Given the description of an element on the screen output the (x, y) to click on. 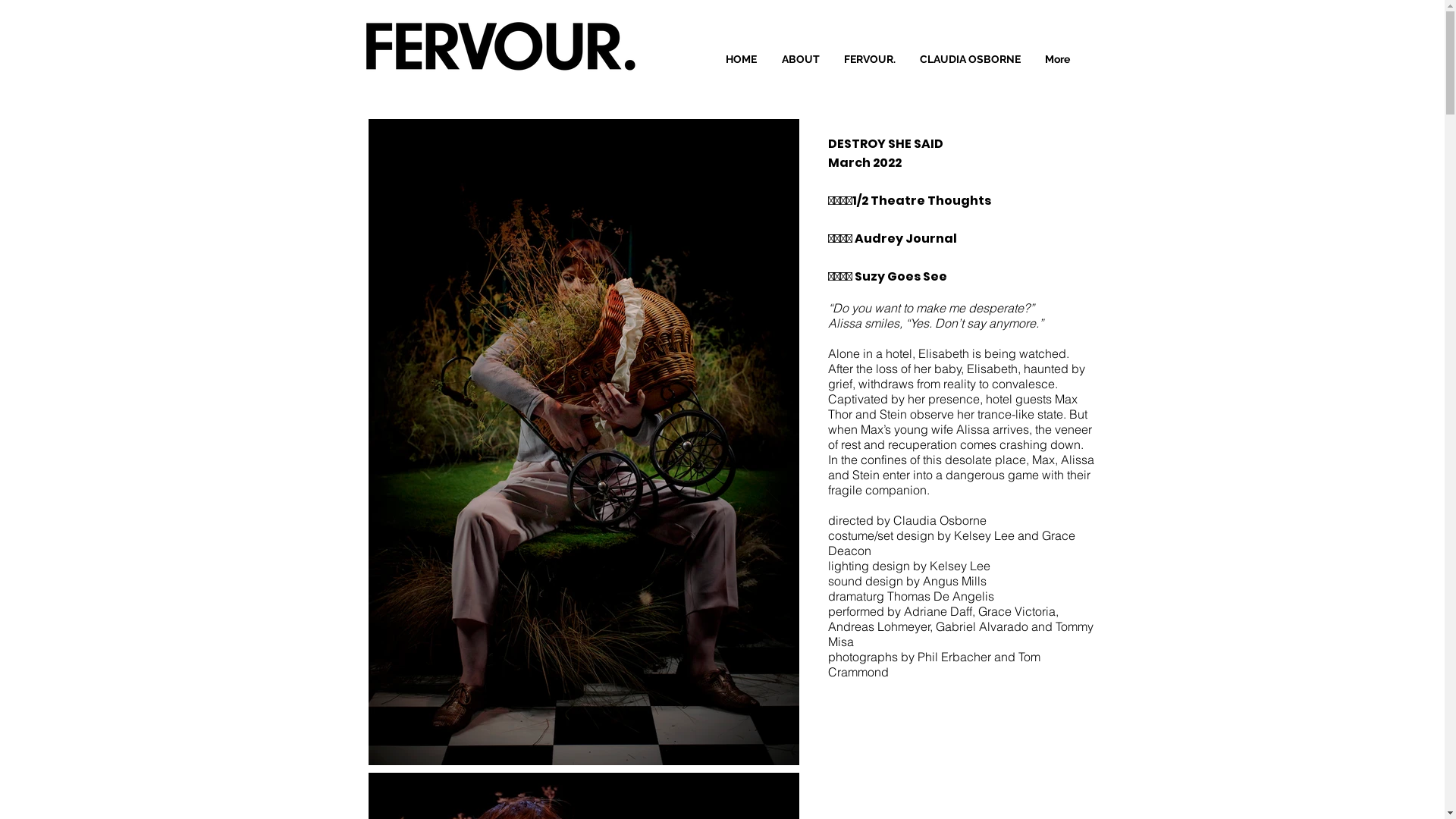
ABOUT Element type: text (799, 59)
CLAUDIA OSBORNE Element type: text (970, 59)
HOME Element type: text (740, 59)
